Given the description of an element on the screen output the (x, y) to click on. 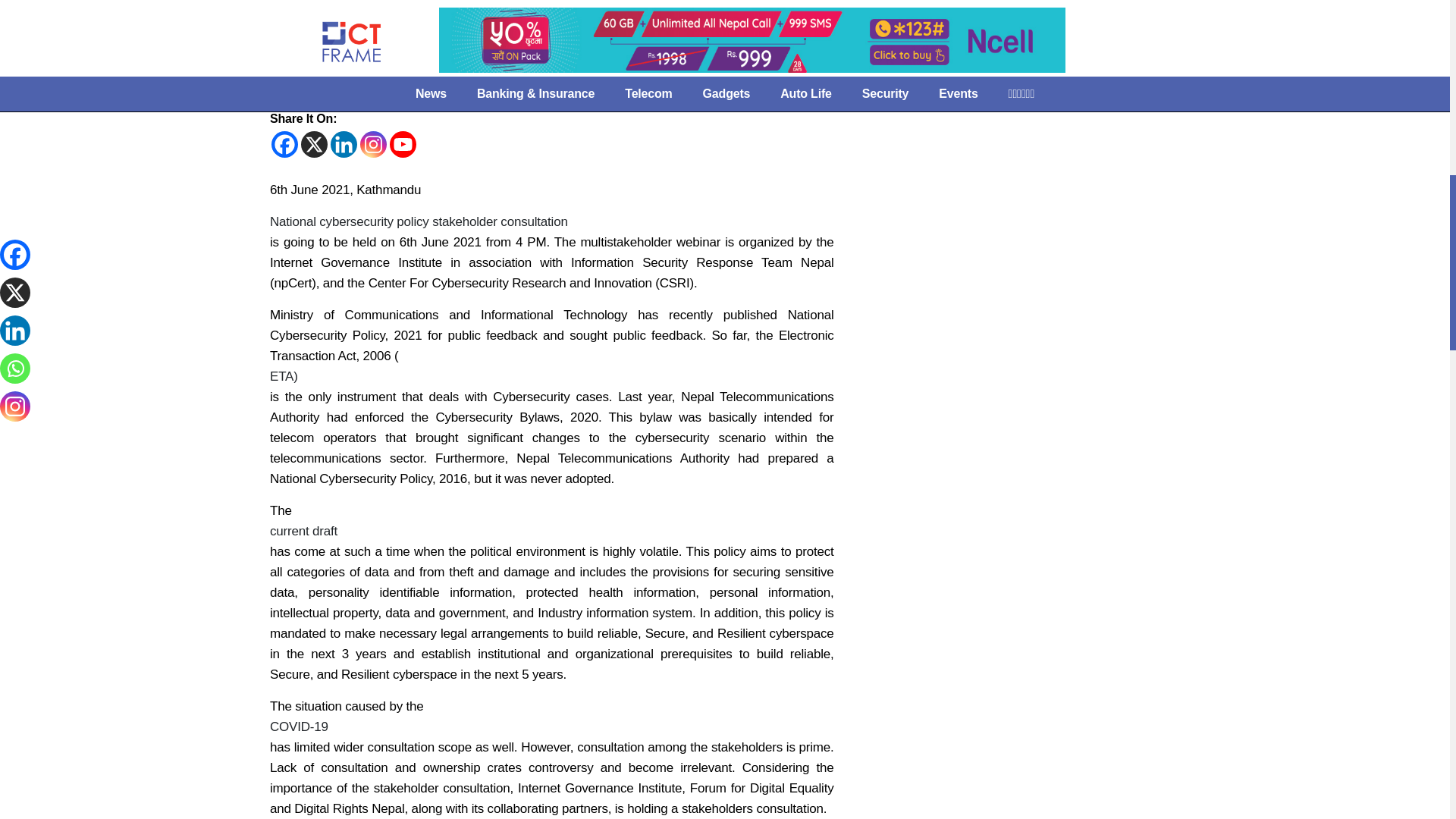
Linkedin (343, 144)
Youtube (403, 144)
Instagram (373, 144)
Facebook (284, 144)
X (314, 144)
